Given the description of an element on the screen output the (x, y) to click on. 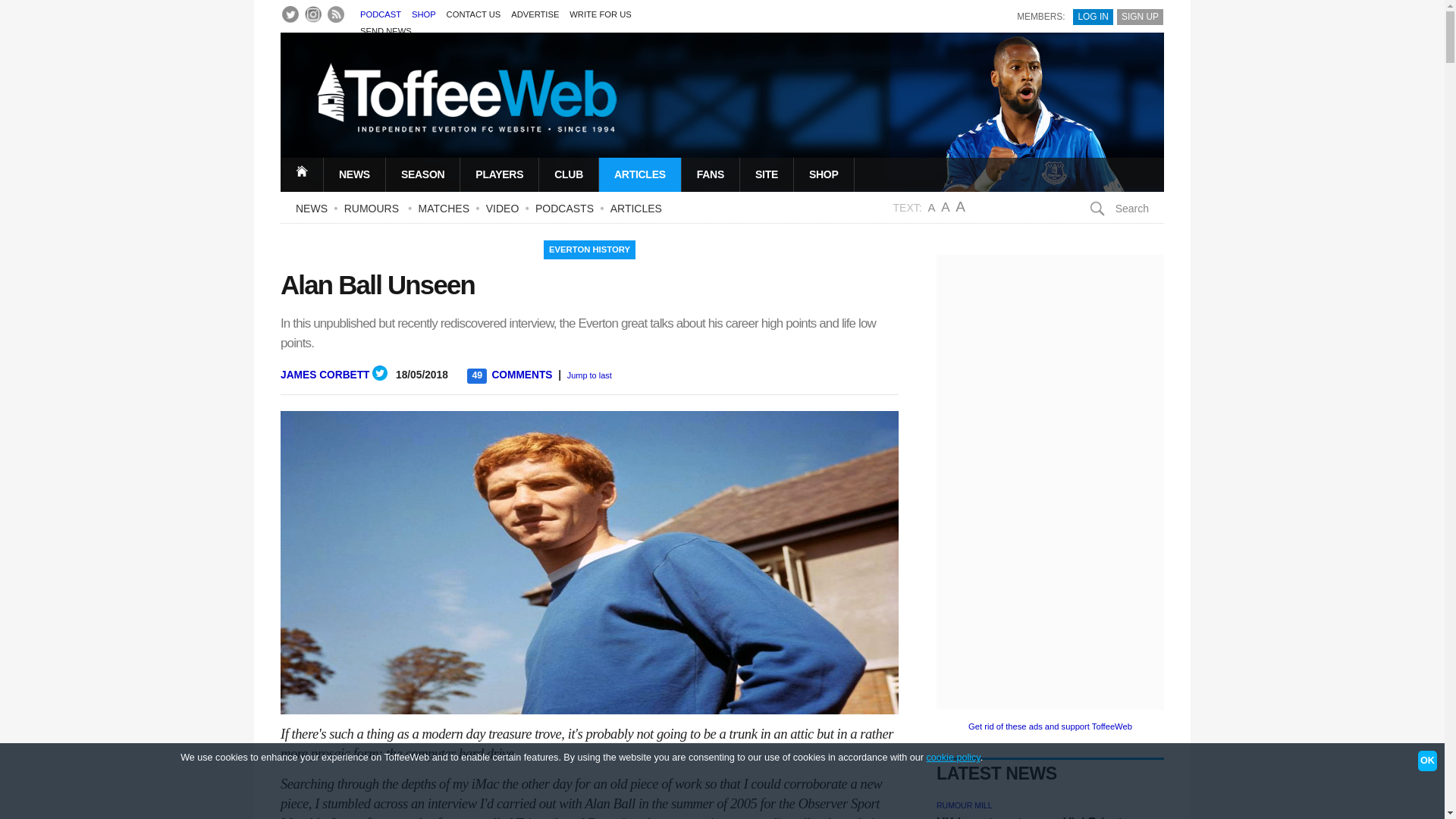
CONTACT US (473, 13)
SHOP (423, 13)
SEND NEWS (385, 31)
ADVERTISE (535, 13)
PODCAST (380, 13)
WRITE FOR US (599, 13)
